Given the description of an element on the screen output the (x, y) to click on. 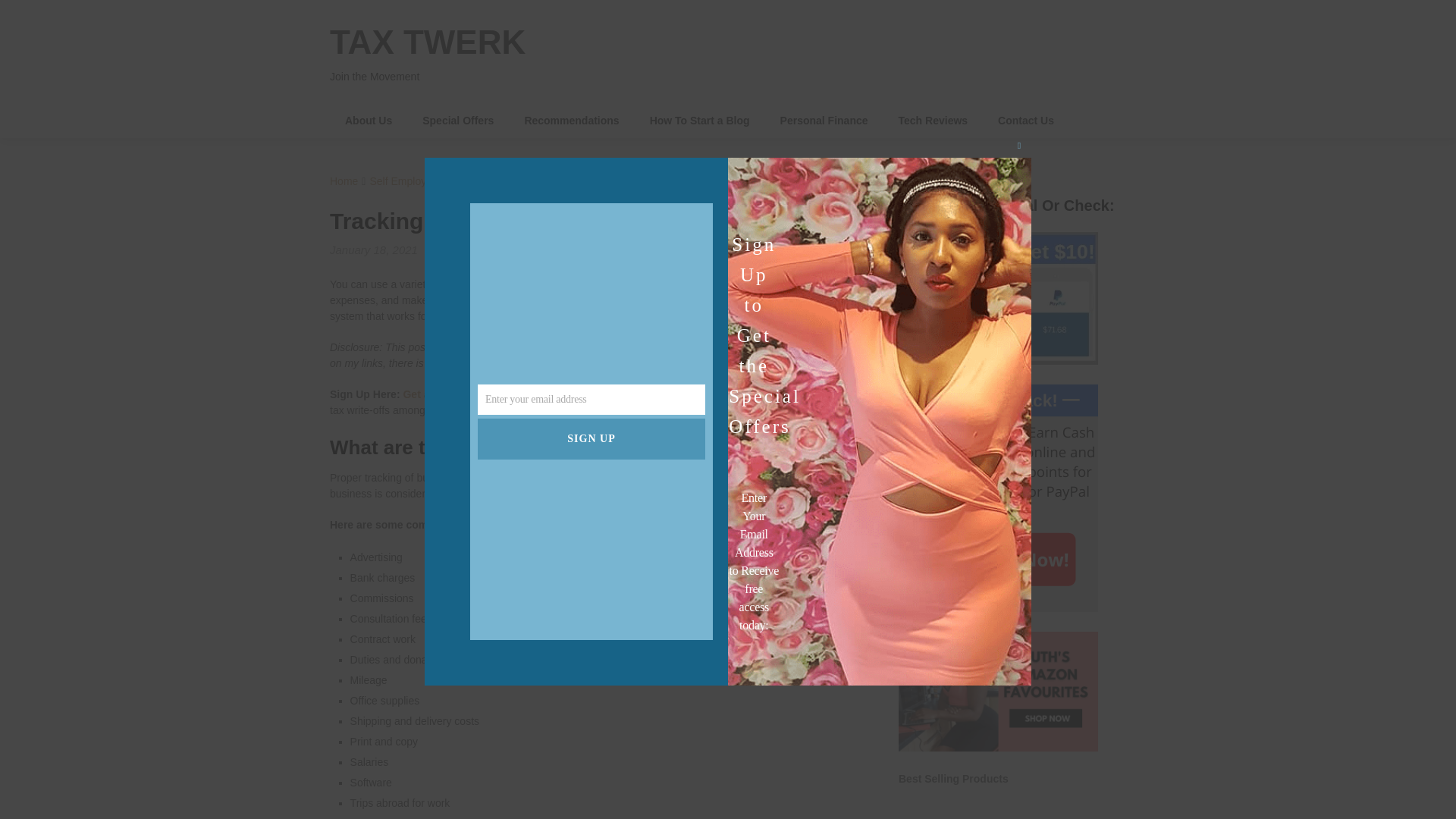
About Us (368, 121)
Get Paid By PayPal Or Check: (997, 297)
Tech Reviews (933, 121)
Self Employed (403, 181)
Contact Us (1025, 121)
How To Start a Blog (699, 121)
Tech Reviews (933, 121)
Recommendations (570, 121)
Special Offers (457, 121)
Personal Finance (824, 121)
Get a lot of tax write-offs here (478, 394)
Personal Finance (824, 121)
Home (344, 181)
TAX TWERK (427, 41)
Recommendations (570, 121)
